Given the description of an element on the screen output the (x, y) to click on. 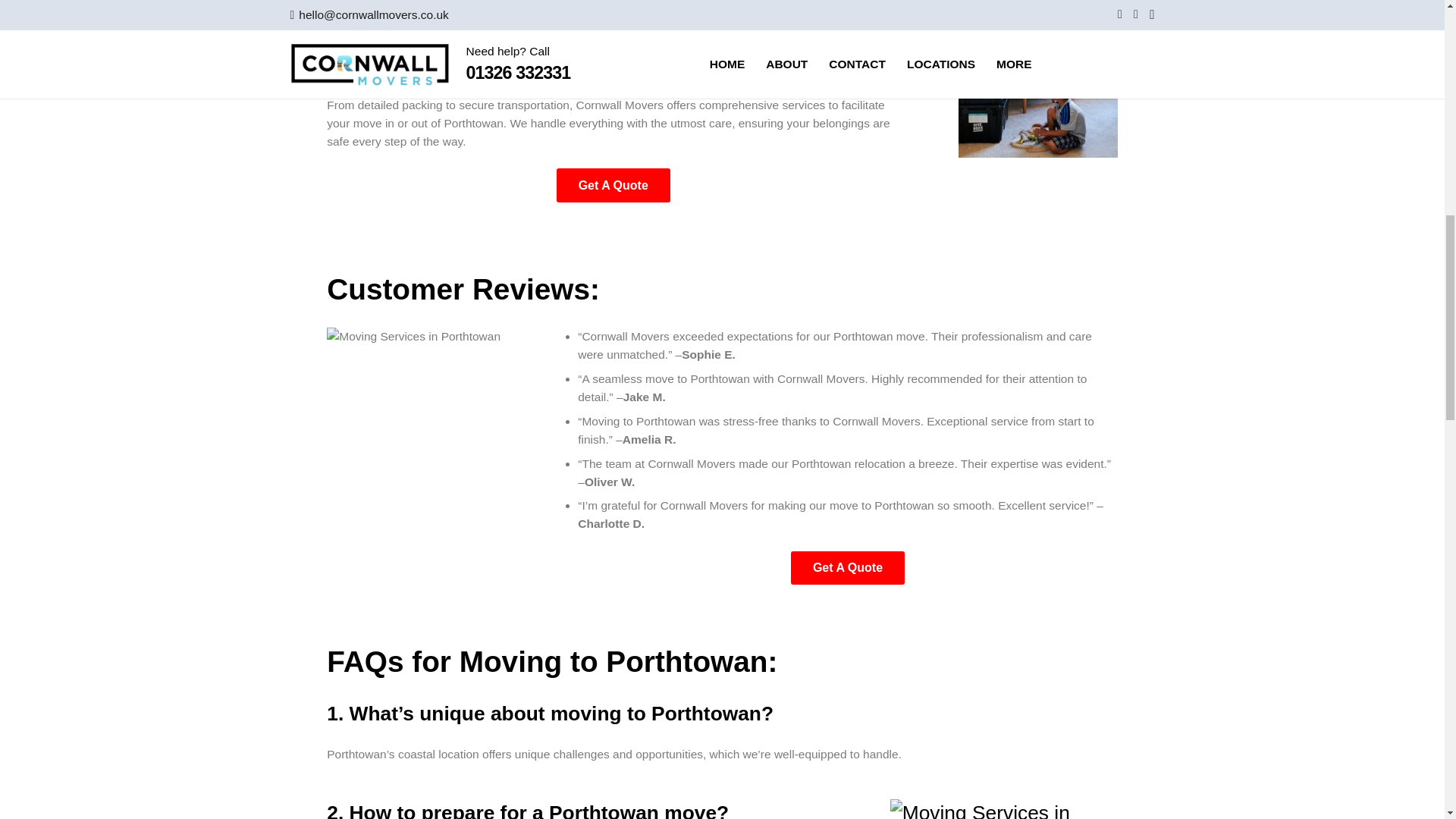
Get A Quote (612, 185)
Get A Quote (847, 568)
Get A Quote (612, 185)
Get A Quote (847, 568)
Back to top (1413, 27)
